Given the description of an element on the screen output the (x, y) to click on. 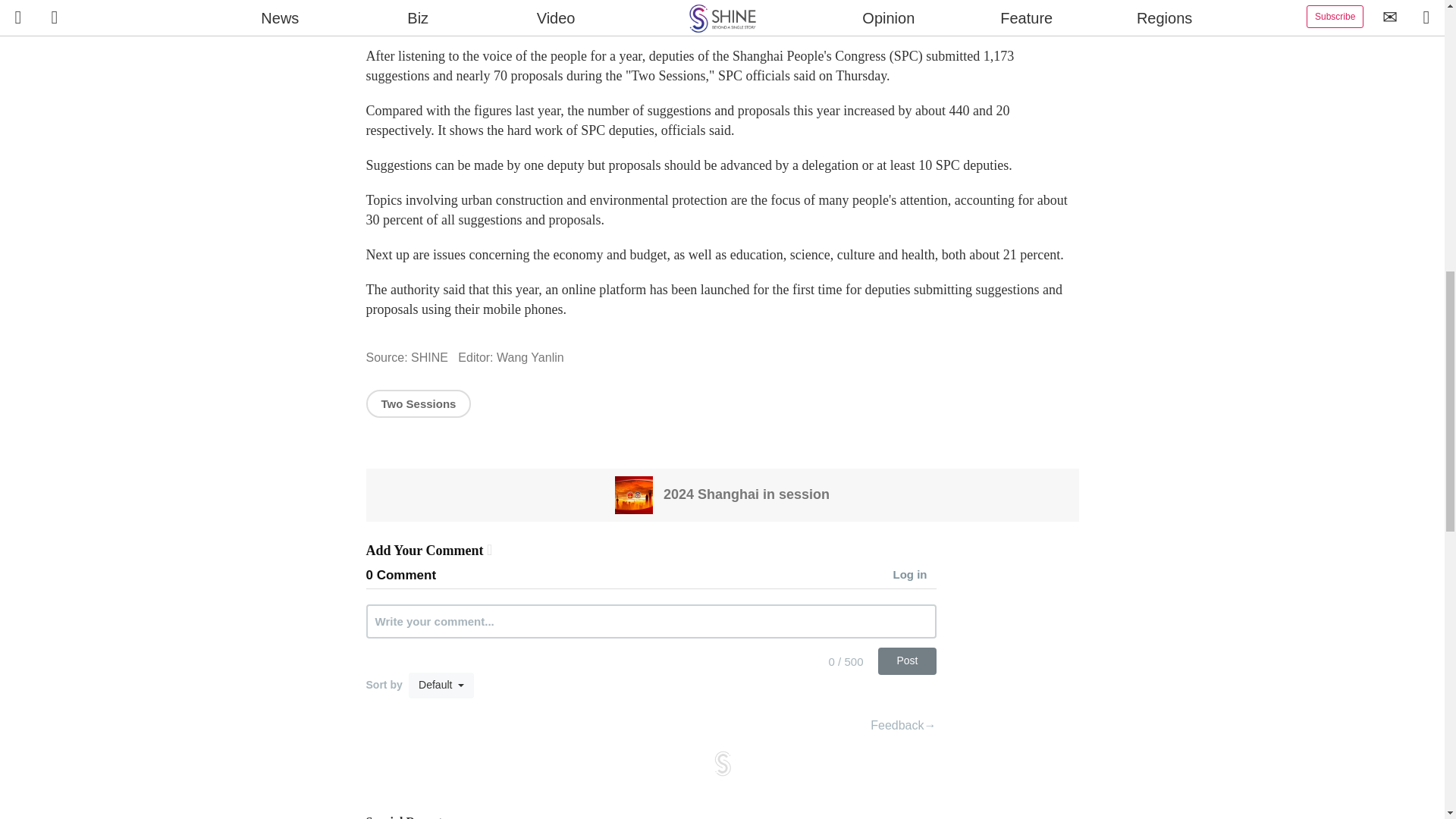
Log in (914, 575)
Two Sessions (417, 403)
Default   (441, 685)
2024 Shanghai in session (721, 494)
